Given the description of an element on the screen output the (x, y) to click on. 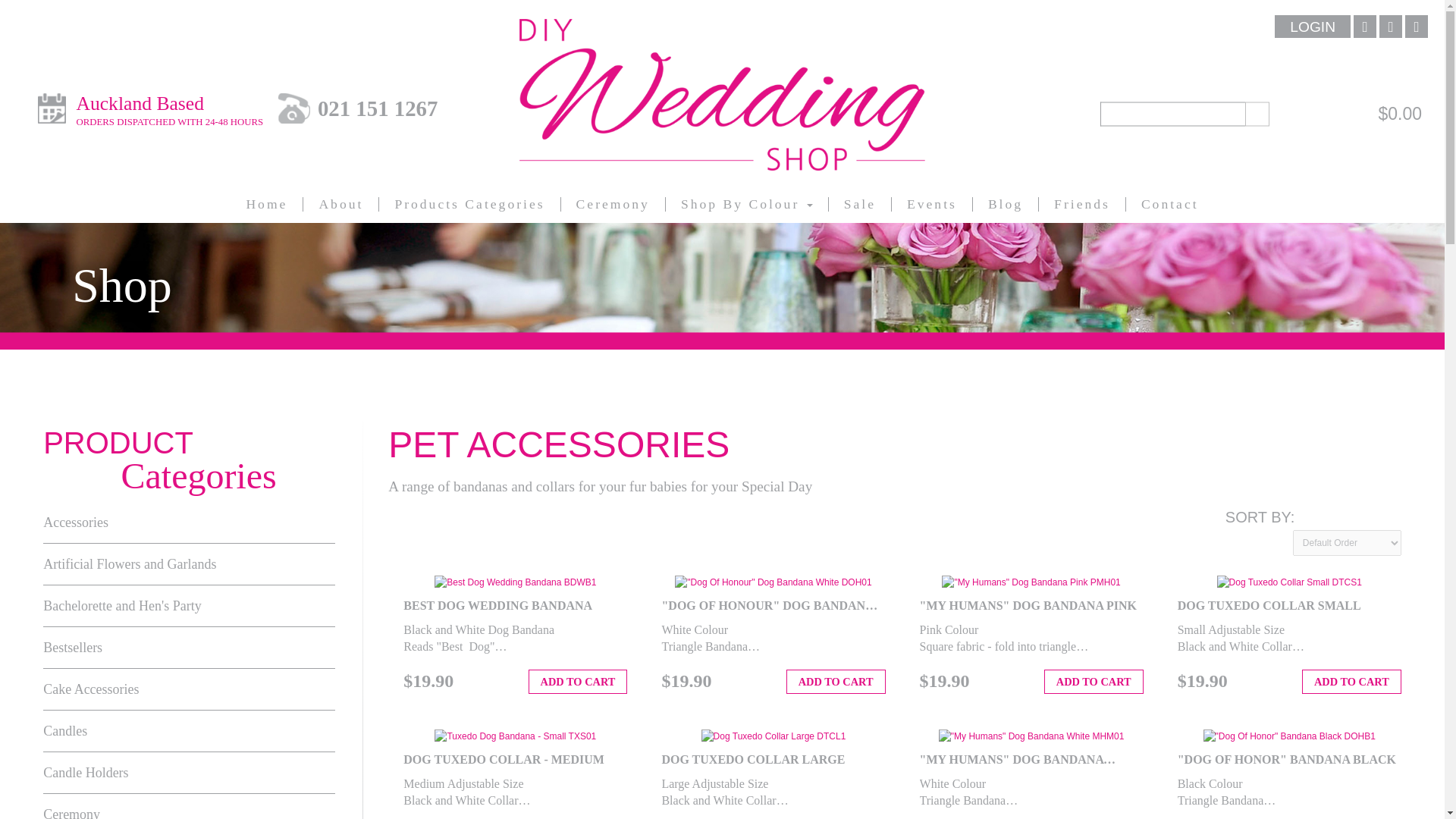
Home (266, 204)
About (340, 204)
Events (931, 204)
Products Categories (469, 204)
Login (1313, 26)
021 151 1267 (377, 108)
Blog (169, 110)
Top (1005, 204)
Ceremony (1387, 781)
